Given the description of an element on the screen output the (x, y) to click on. 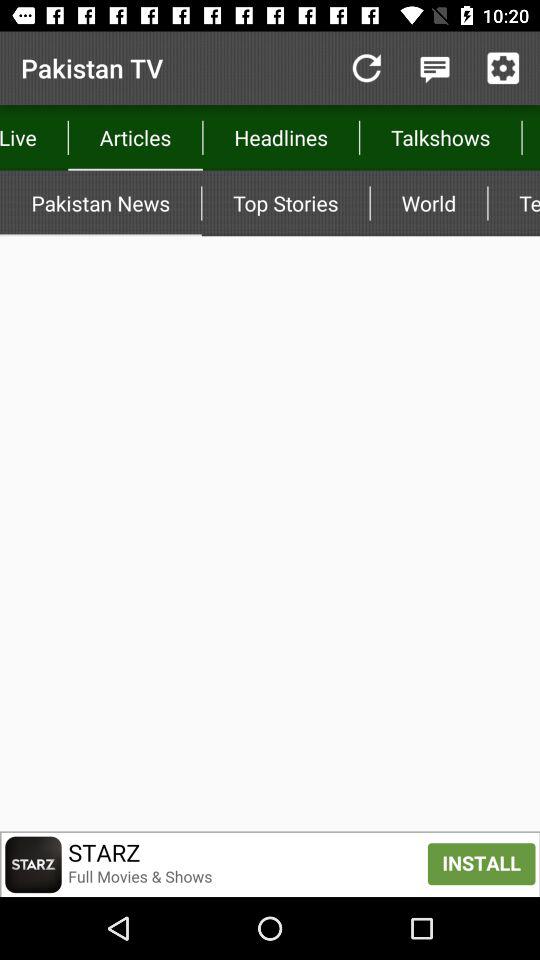
select app next to the top stories (100, 203)
